Given the description of an element on the screen output the (x, y) to click on. 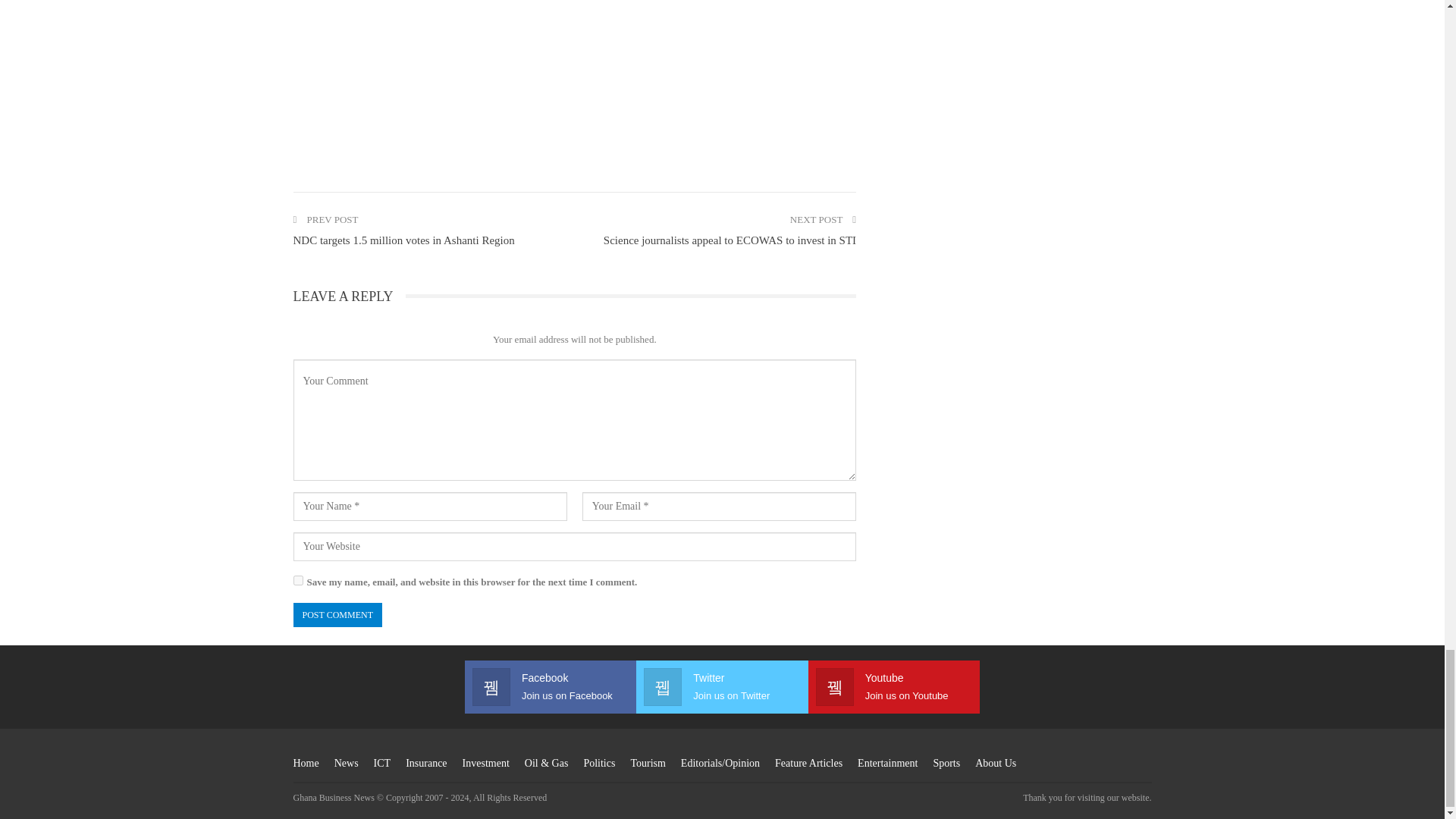
Post Comment (336, 615)
yes (297, 580)
Science journalists appeal to ECOWAS to invest in STI (730, 240)
NDC targets 1.5 million votes in Ashanti Region (402, 240)
Post Comment (336, 615)
